Given the description of an element on the screen output the (x, y) to click on. 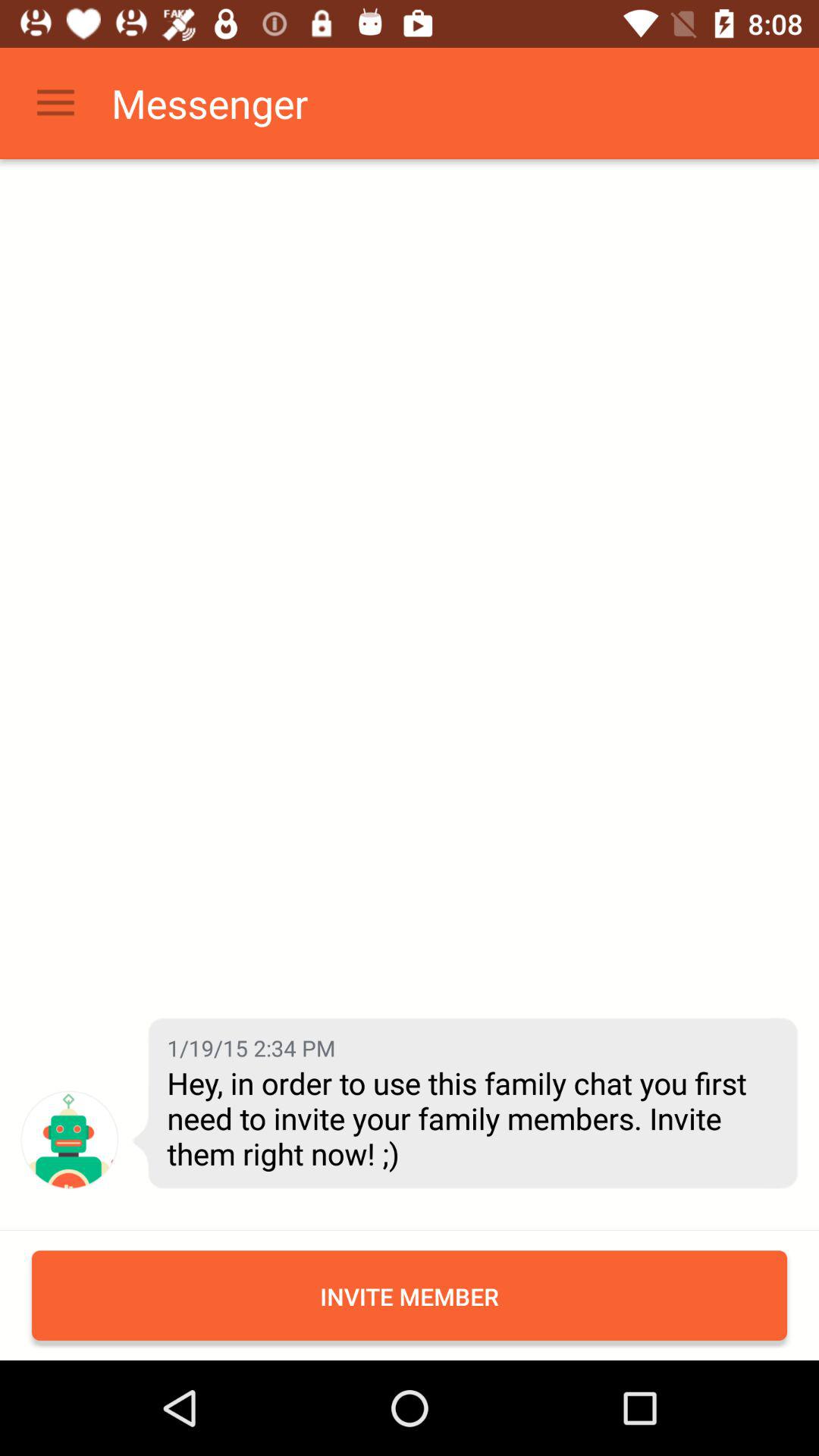
swipe until invite member icon (409, 1295)
